Given the description of an element on the screen output the (x, y) to click on. 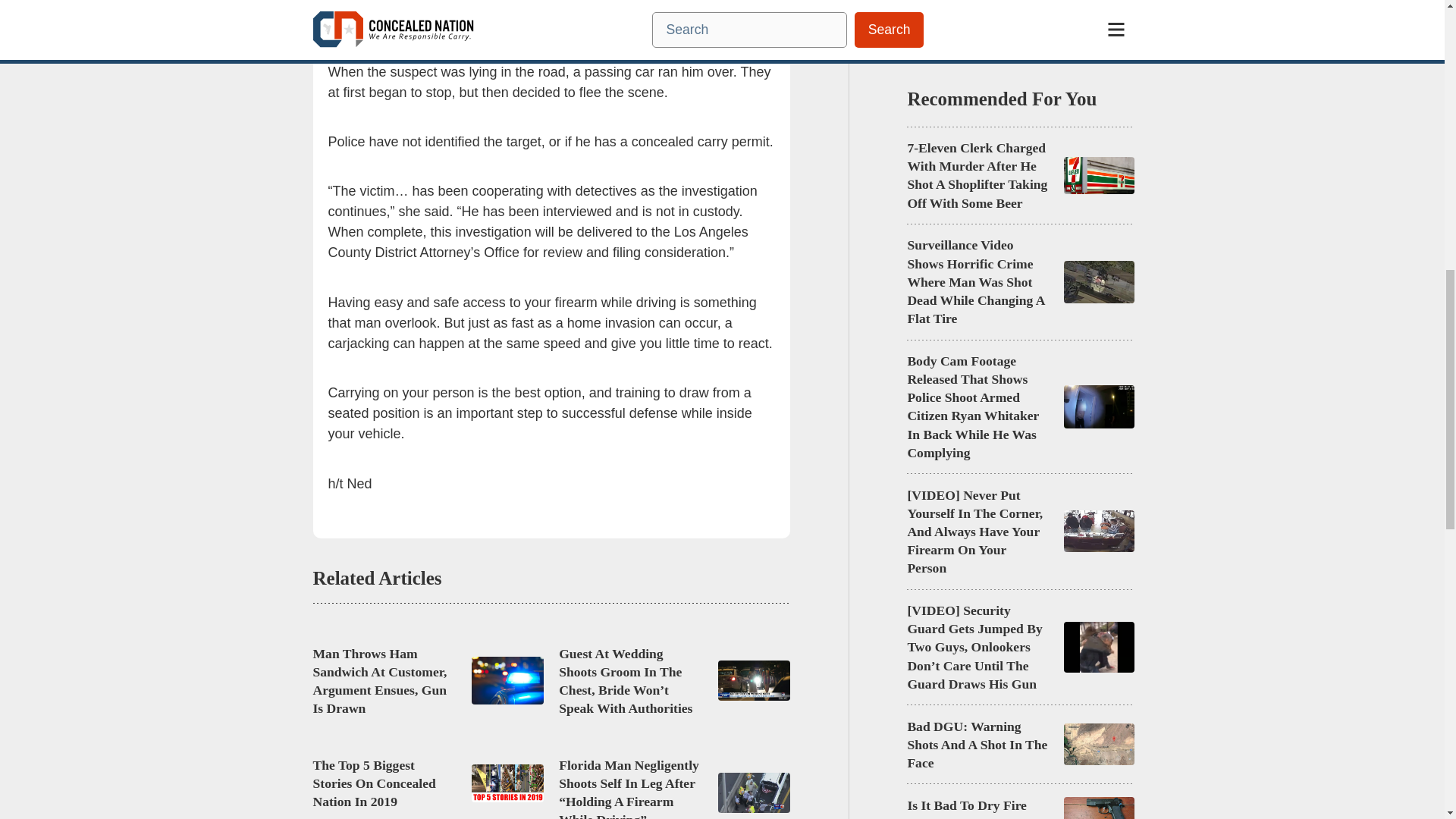
The Top 5 Biggest Stories On Concealed Nation In 2019 (385, 782)
